Given the description of an element on the screen output the (x, y) to click on. 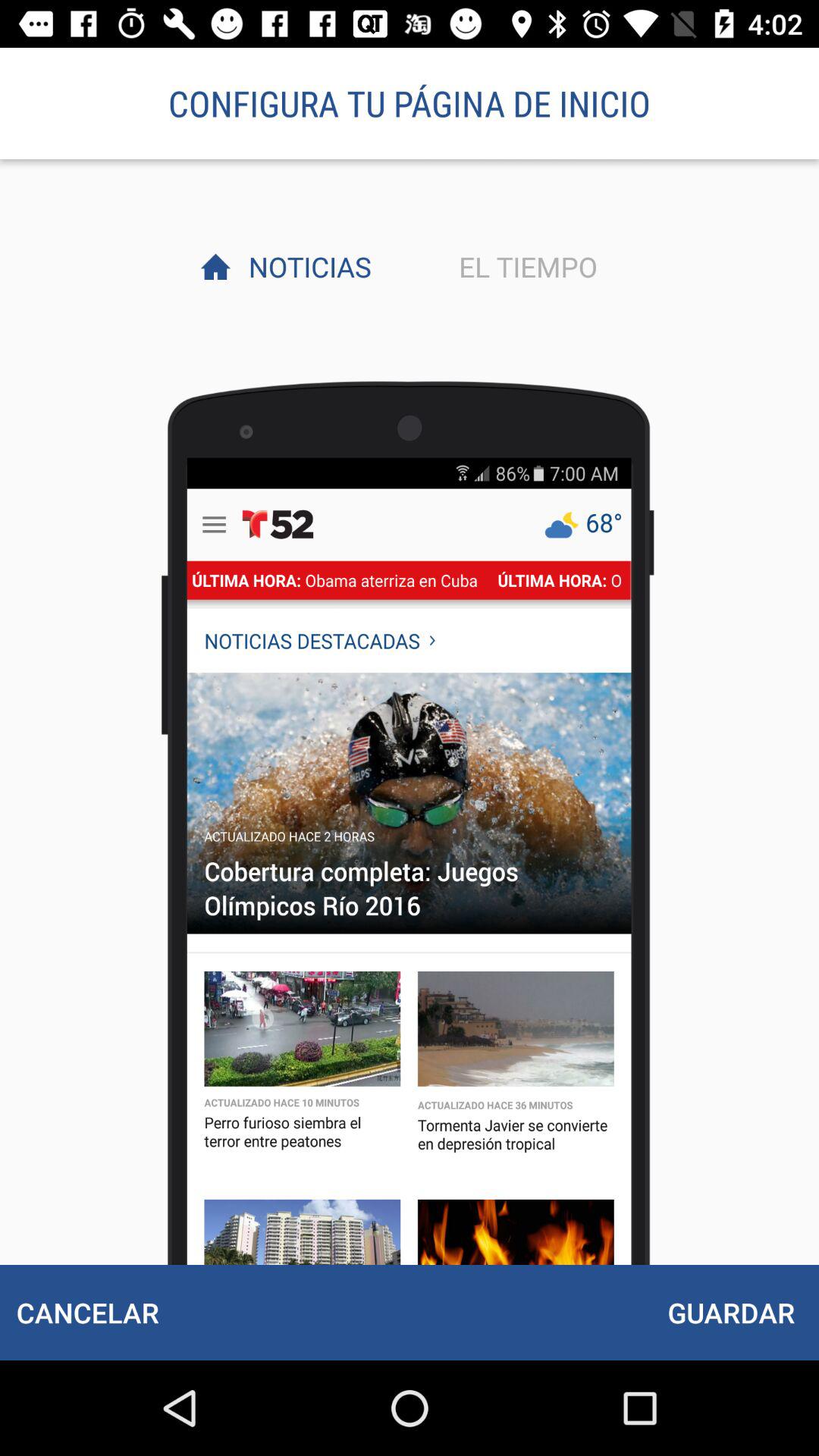
click the item to the left of the el tiempo item (305, 266)
